Given the description of an element on the screen output the (x, y) to click on. 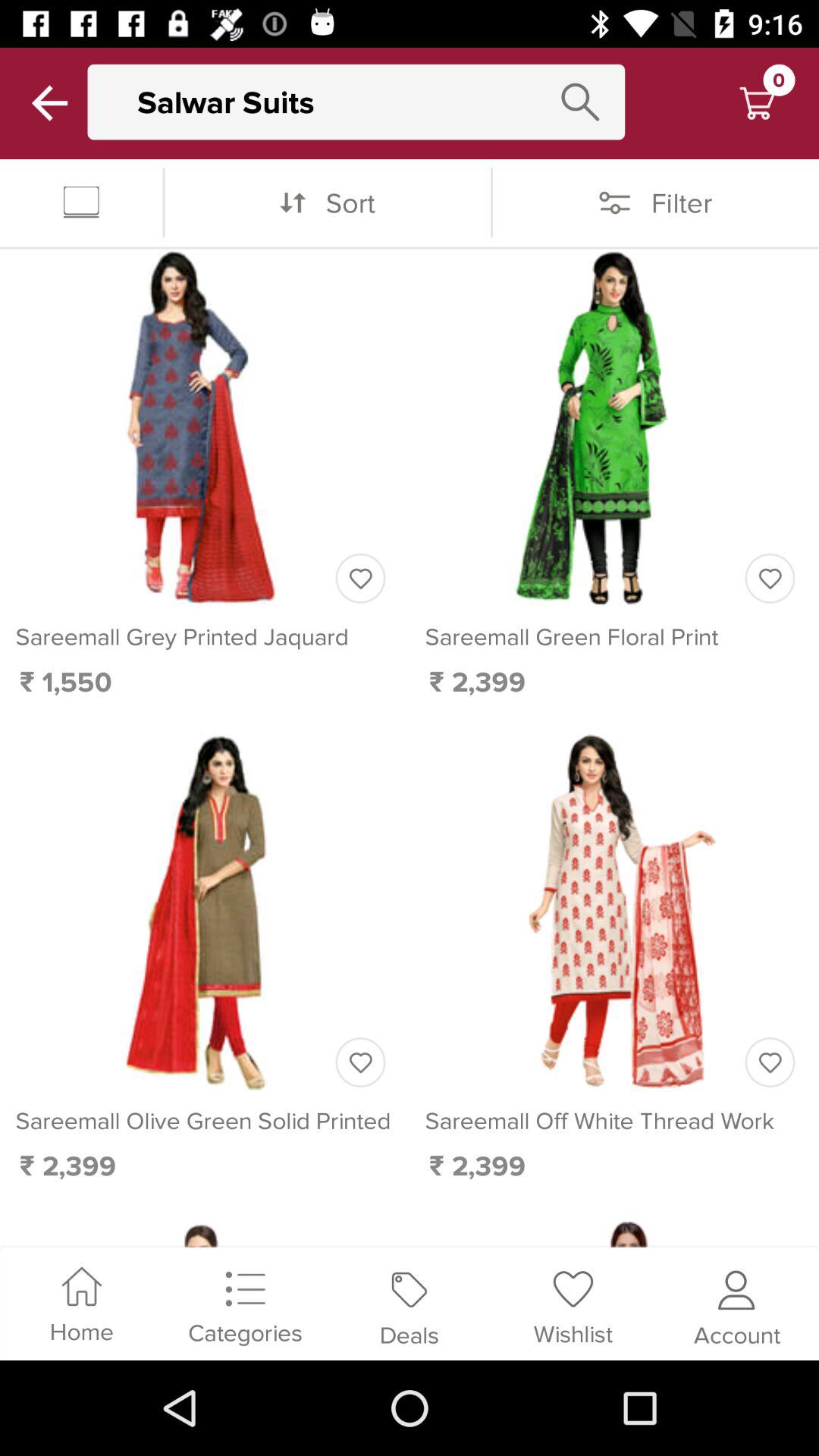
like (360, 578)
